Given the description of an element on the screen output the (x, y) to click on. 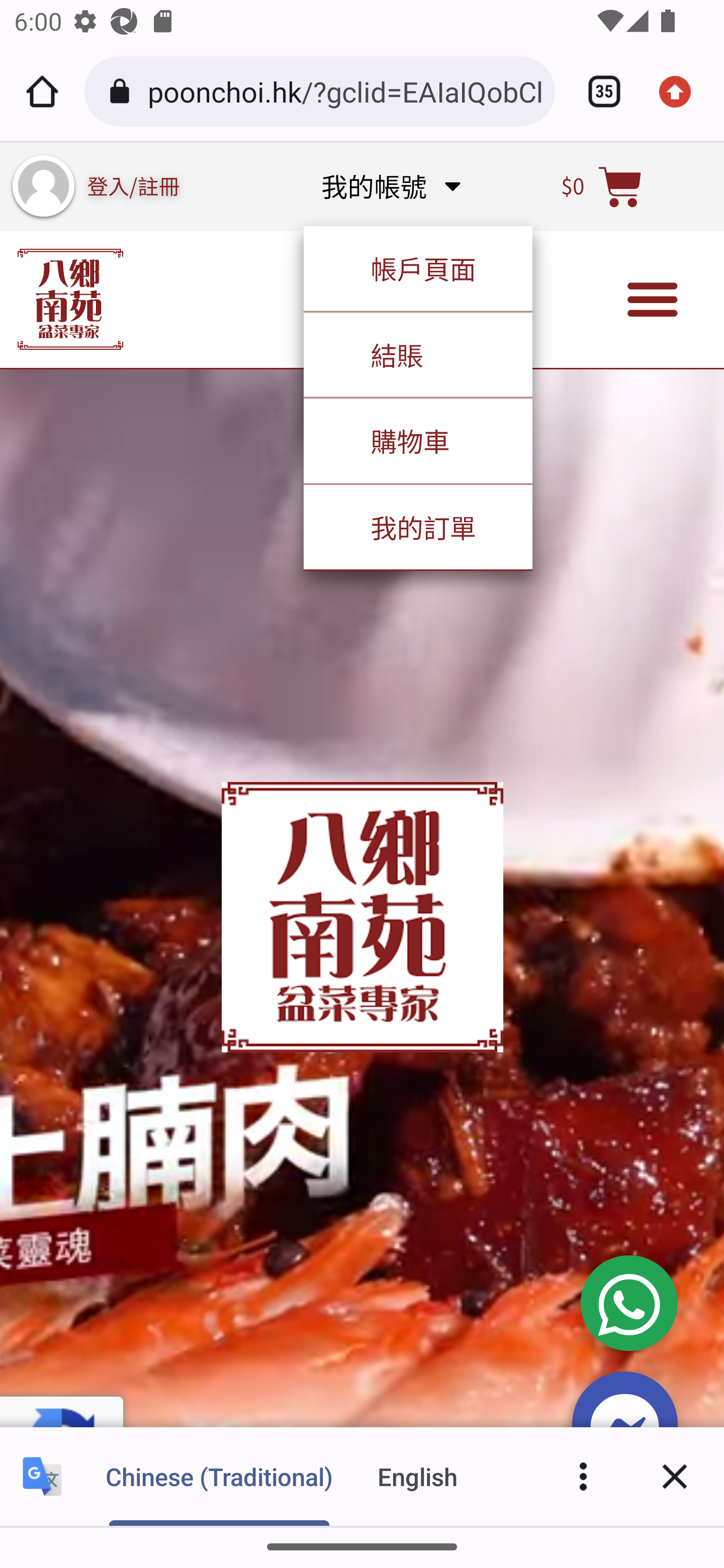
Home (42, 91)
Connection is secure (122, 91)
Switch or close tabs (597, 91)
Update available. More options (681, 91)
$0  購物籃 $ 0  (601, 186)
my-account (43, 186)
登入/註冊 (133, 185)
帳戶頁面 (417, 267)
www.poonchoi (70, 299)
選單切換 (652, 299)
結賬 (417, 354)
購物車 (417, 440)
我的訂單 (417, 525)
English (417, 1475)
More options (582, 1475)
Close (674, 1475)
